Given the description of an element on the screen output the (x, y) to click on. 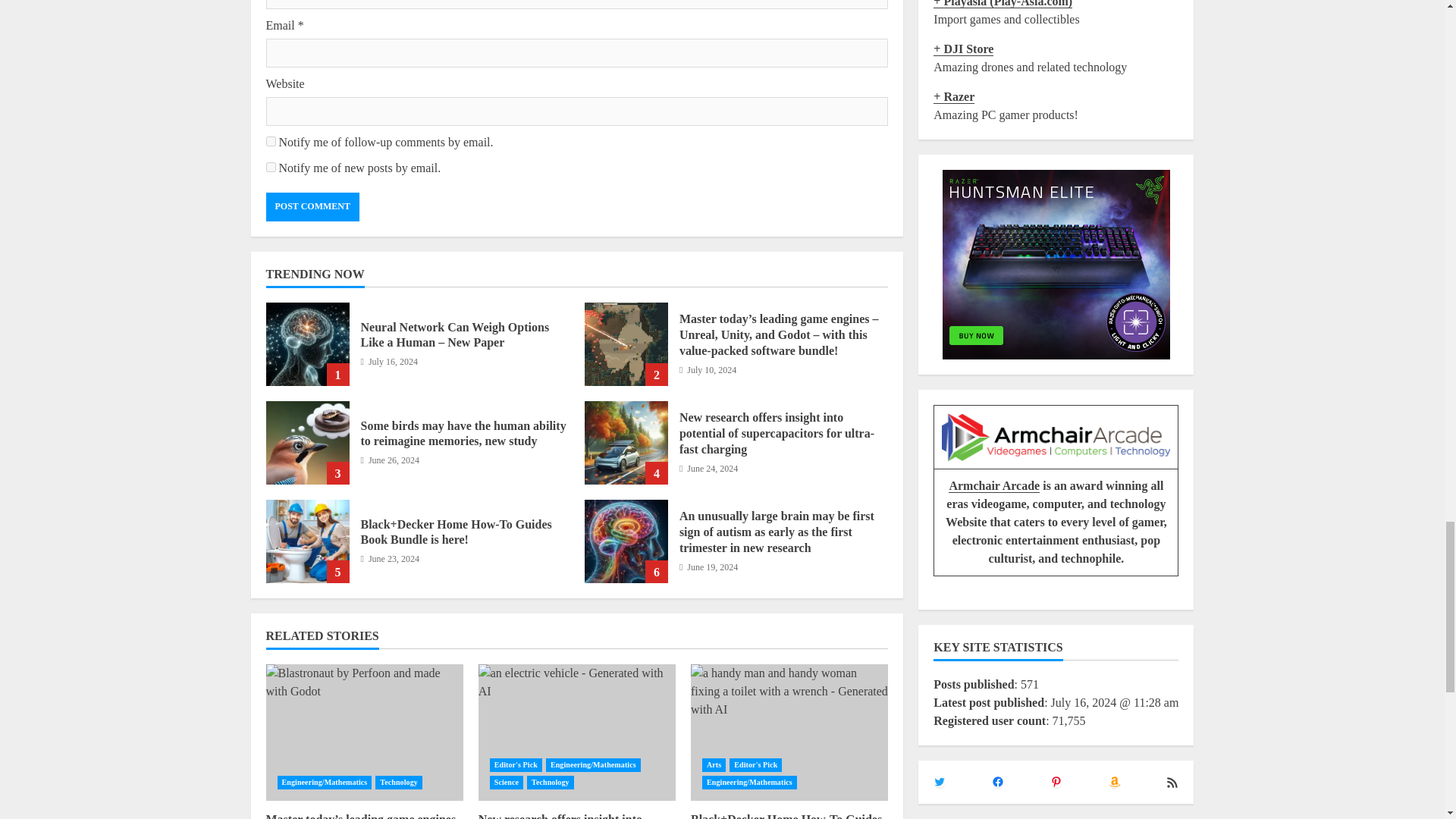
subscribe (269, 141)
Post Comment (311, 206)
subscribe (269, 166)
